Given the description of an element on the screen output the (x, y) to click on. 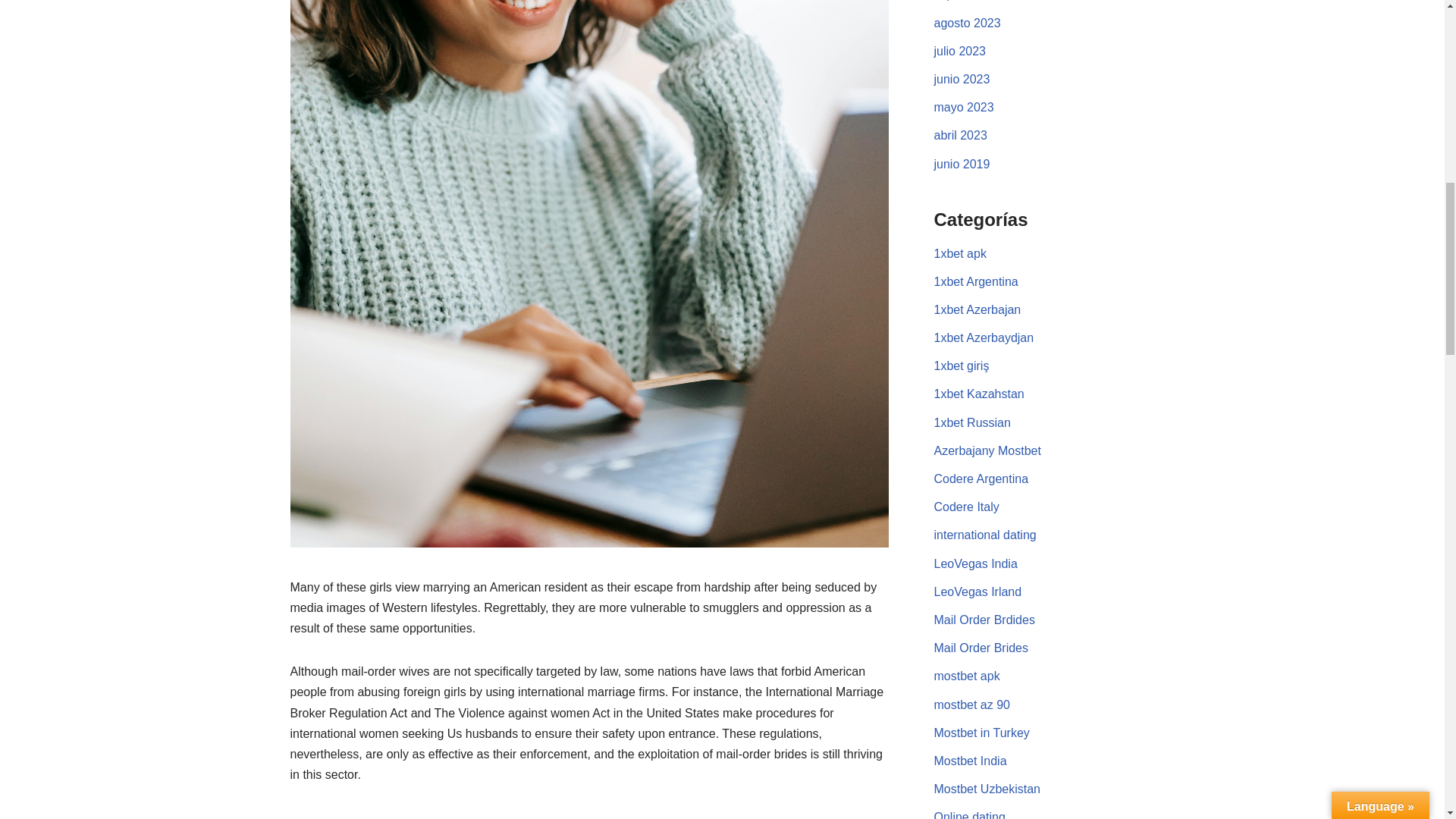
agosto 2023 (967, 22)
mayo 2023 (964, 106)
junio 2019 (962, 164)
julio 2023 (960, 51)
abril 2023 (960, 134)
junio 2023 (962, 78)
1xbet apk (960, 253)
1xbet Argentina (975, 281)
